Given the description of an element on the screen output the (x, y) to click on. 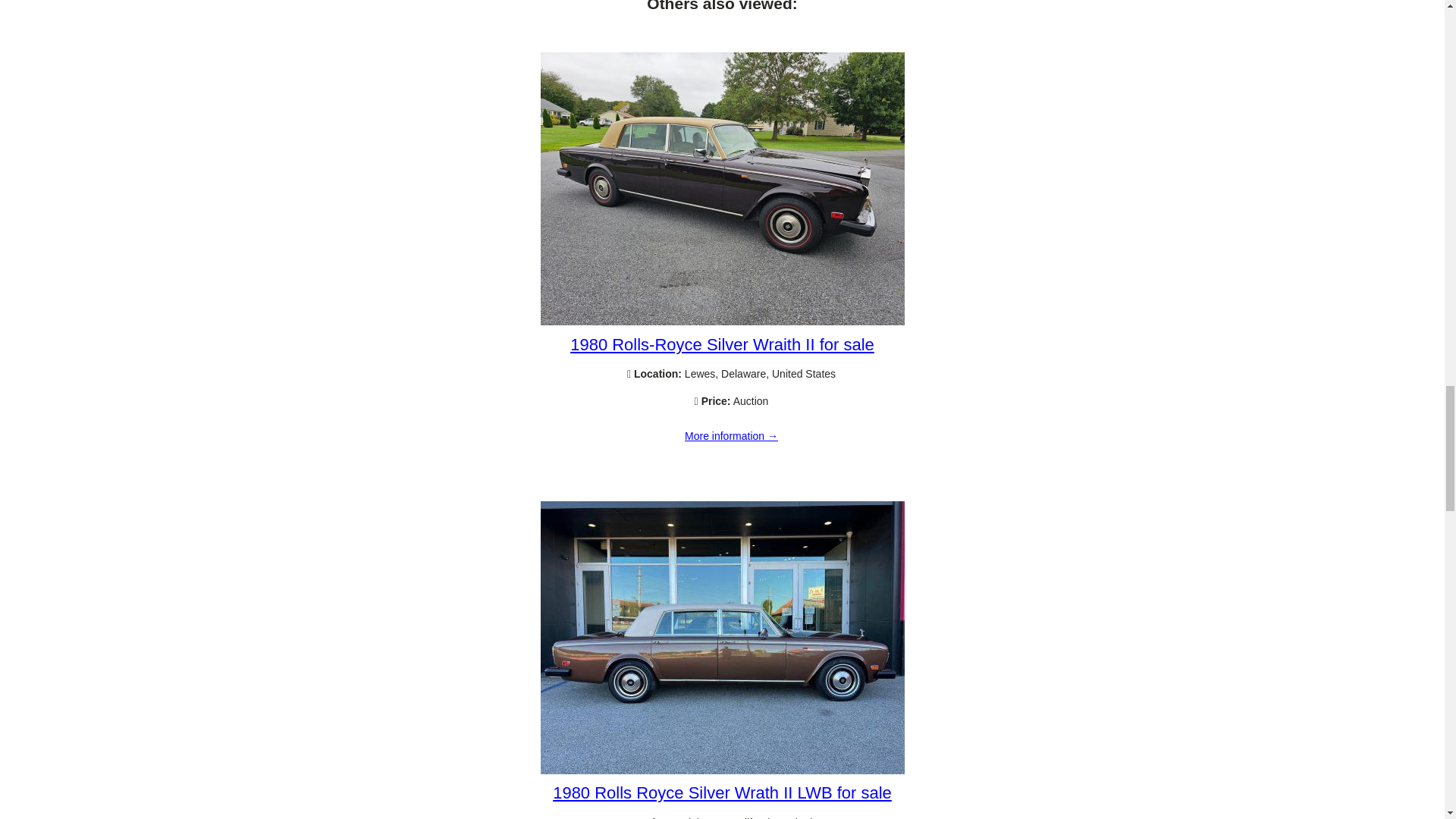
1980 Rolls Royce Silver Wrath II LWB for sale (722, 770)
1980 Rolls Royce Silver Wrath II LWB for sale (722, 792)
1980 Rolls-Royce Silver Wraith II for sale (731, 436)
1980 Rolls-Royce Silver Wraith II for sale (722, 321)
1980 Rolls-Royce Silver Wraith II for sale (722, 343)
